Given the description of an element on the screen output the (x, y) to click on. 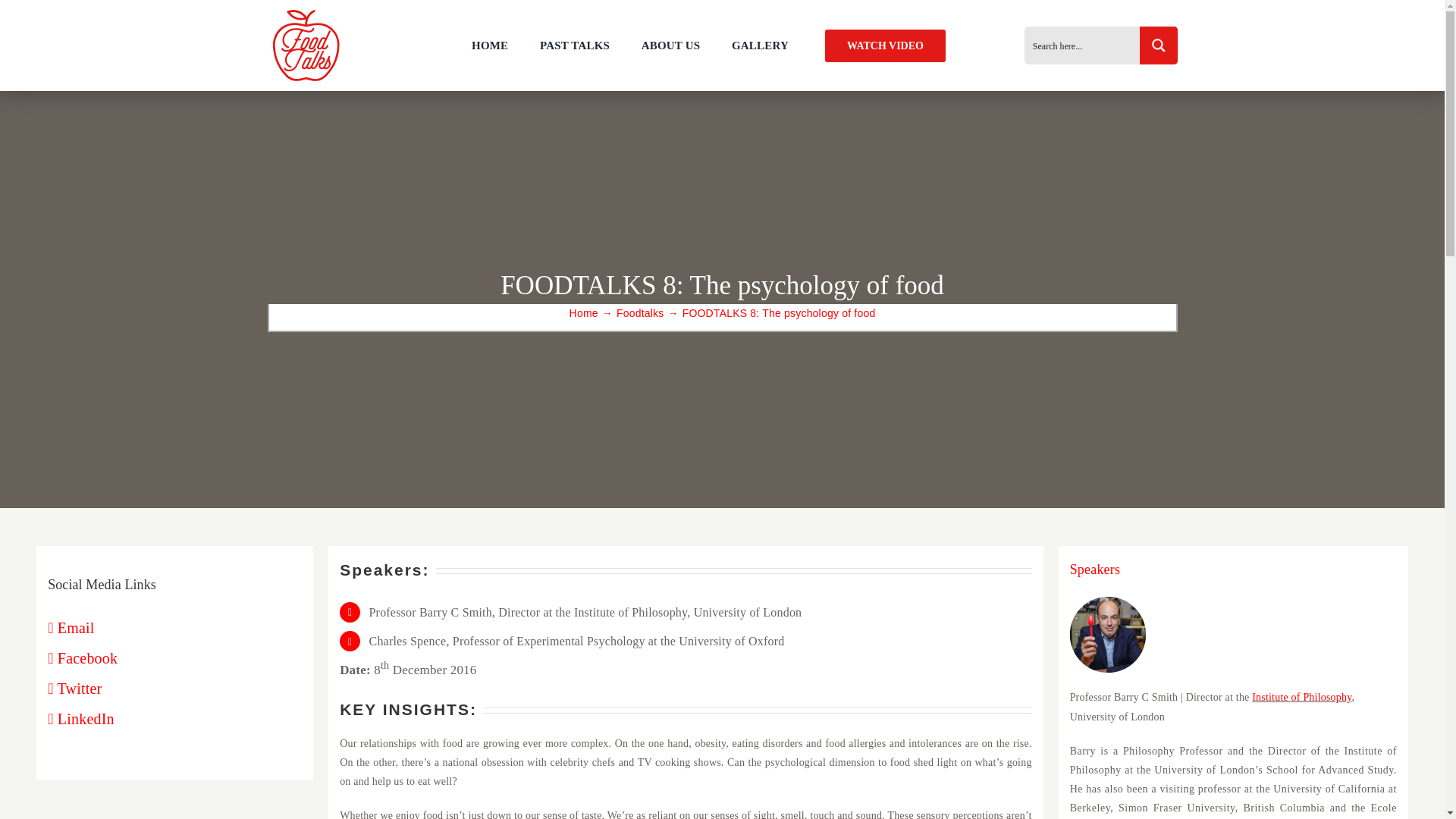
Home (583, 313)
WATCH VIDEO (884, 44)
Email (71, 627)
HOME (489, 45)
Institute of Philosophy (1301, 696)
ABOUT US (671, 45)
PAST TALKS (574, 45)
LinkedIn (81, 718)
GALLERY (759, 45)
Foodtalks (639, 313)
